Given the description of an element on the screen output the (x, y) to click on. 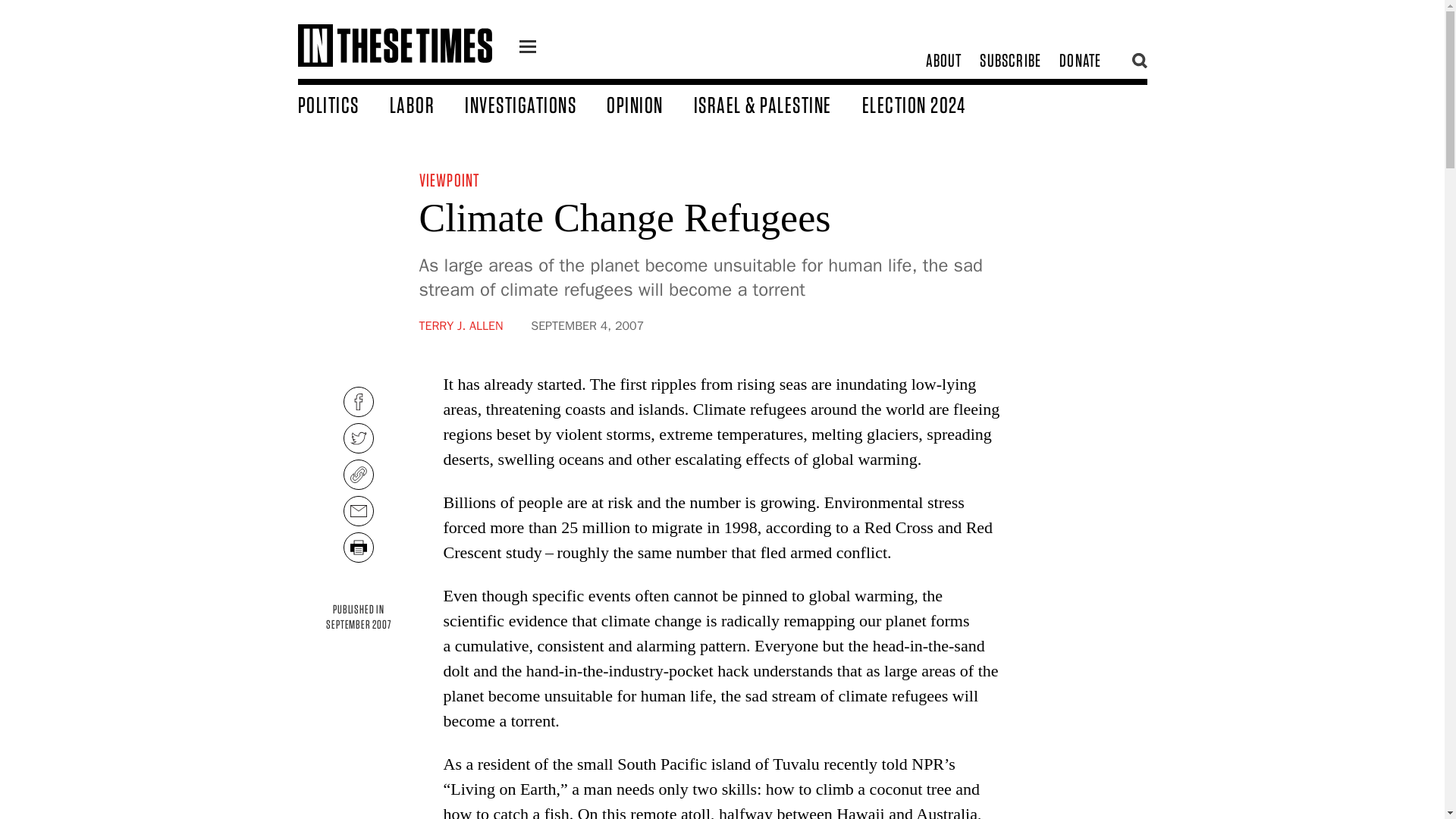
LABOR (357, 616)
DONATE (427, 103)
ELECTION 2024 (1079, 60)
TERRY J. ALLEN (928, 103)
SUBSCRIBE (460, 325)
SKIP TO CONTENT (1010, 60)
ABOUT (449, 179)
POLITICS (944, 60)
